Given the description of an element on the screen output the (x, y) to click on. 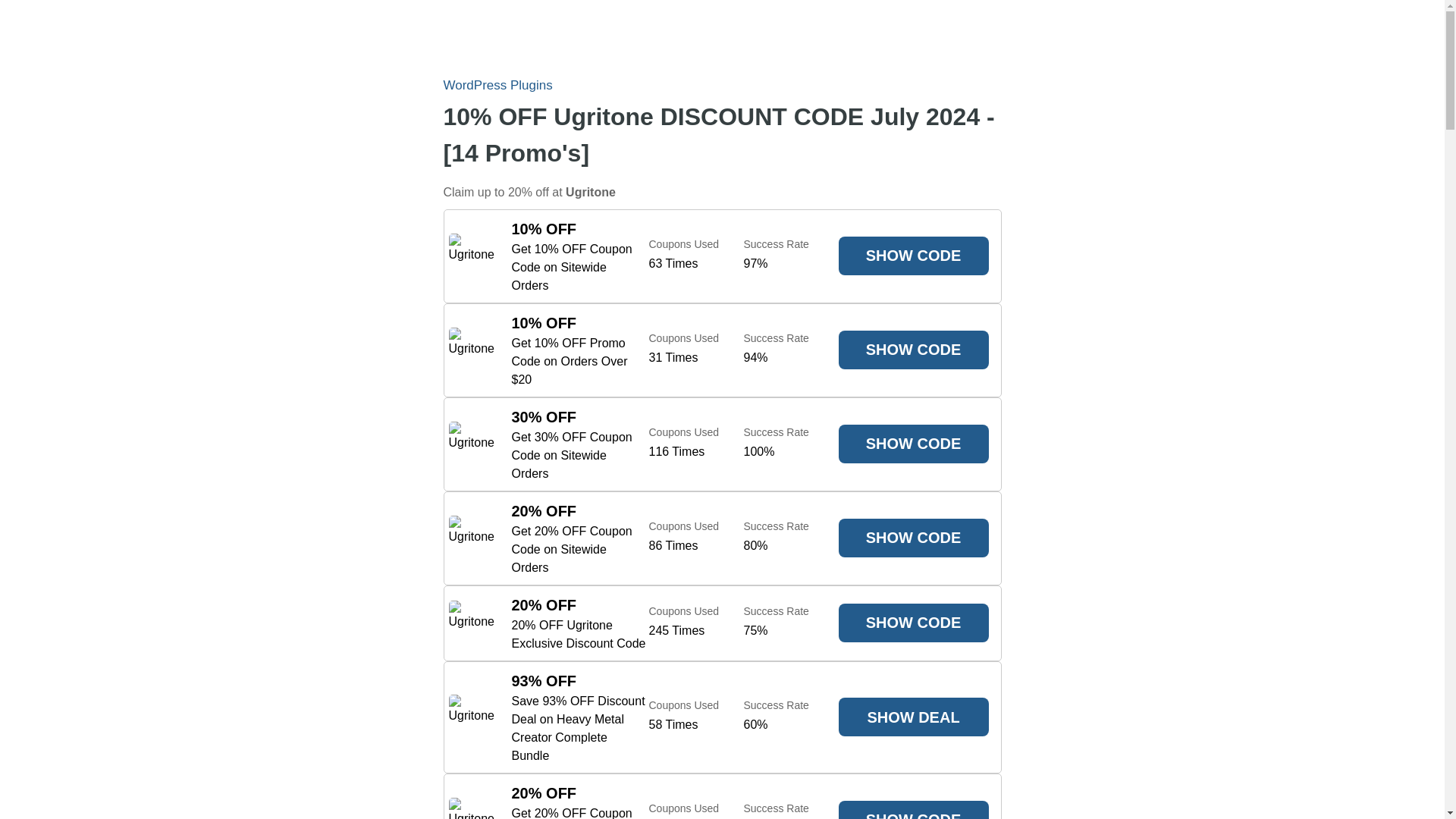
Ugritone (471, 717)
Ugritone (471, 256)
SHOW CODE (913, 809)
Ugritone (471, 538)
Ugritone (471, 350)
Ugritone (590, 191)
Ugritone (471, 623)
SHOW CODE (913, 255)
SHOW CODE (913, 349)
WordPress Plugins (496, 85)
SHOW CODE (913, 537)
SHOW CODE (913, 622)
Ugritone (471, 808)
SHOW CODE (913, 444)
SHOW DEAL (913, 716)
